Given the description of an element on the screen output the (x, y) to click on. 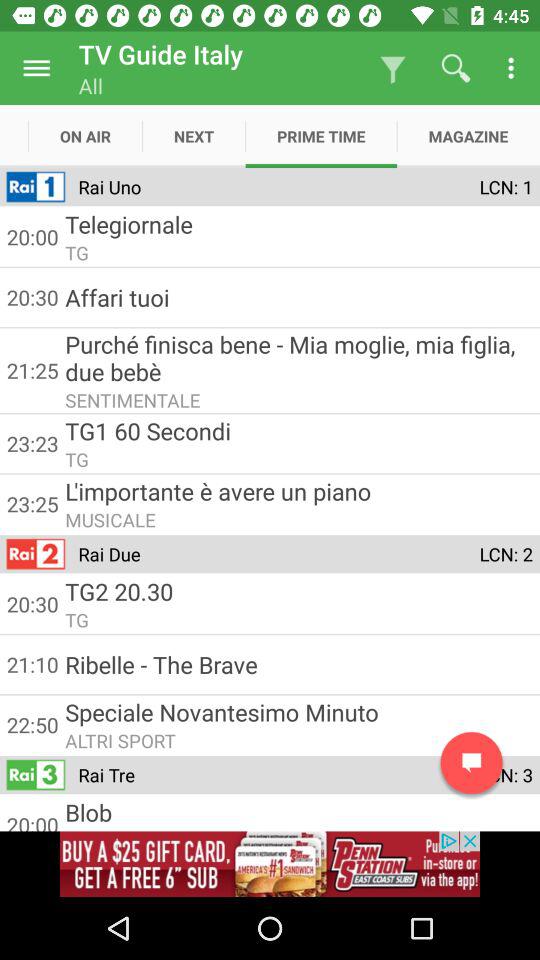
view main menu (36, 68)
